Given the description of an element on the screen output the (x, y) to click on. 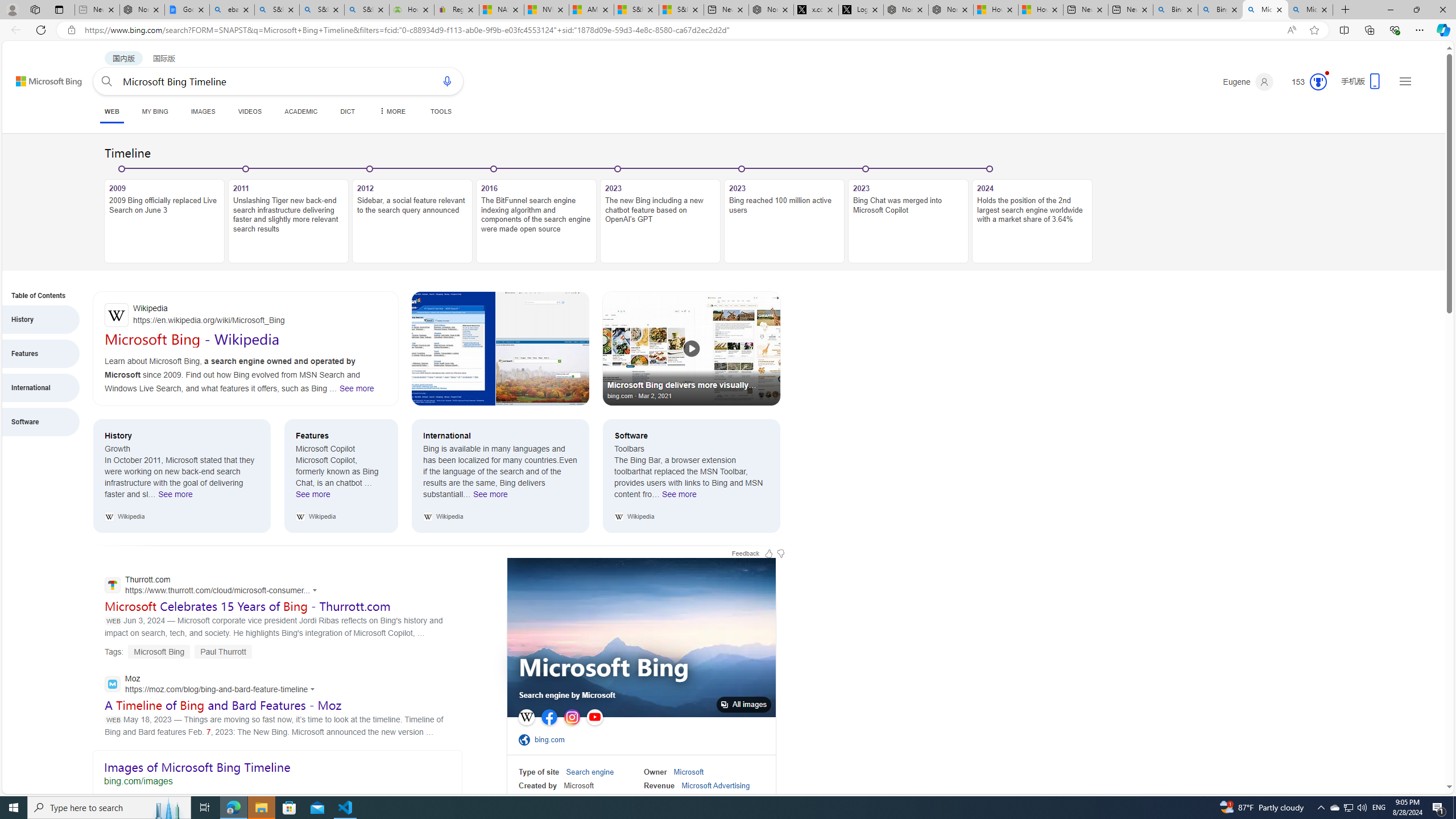
Register: Create a personal eBay account (456, 9)
20092009 Bing officially replaced Live Search on June 3 (164, 214)
Feedback Like (768, 552)
Thurrott.com (213, 586)
Feedback Dislike (780, 552)
S&P 500 - Search (321, 9)
A Timeline of Bing and Bard Features - Moz (223, 704)
ACADEMIC (300, 111)
